Given the description of an element on the screen output the (x, y) to click on. 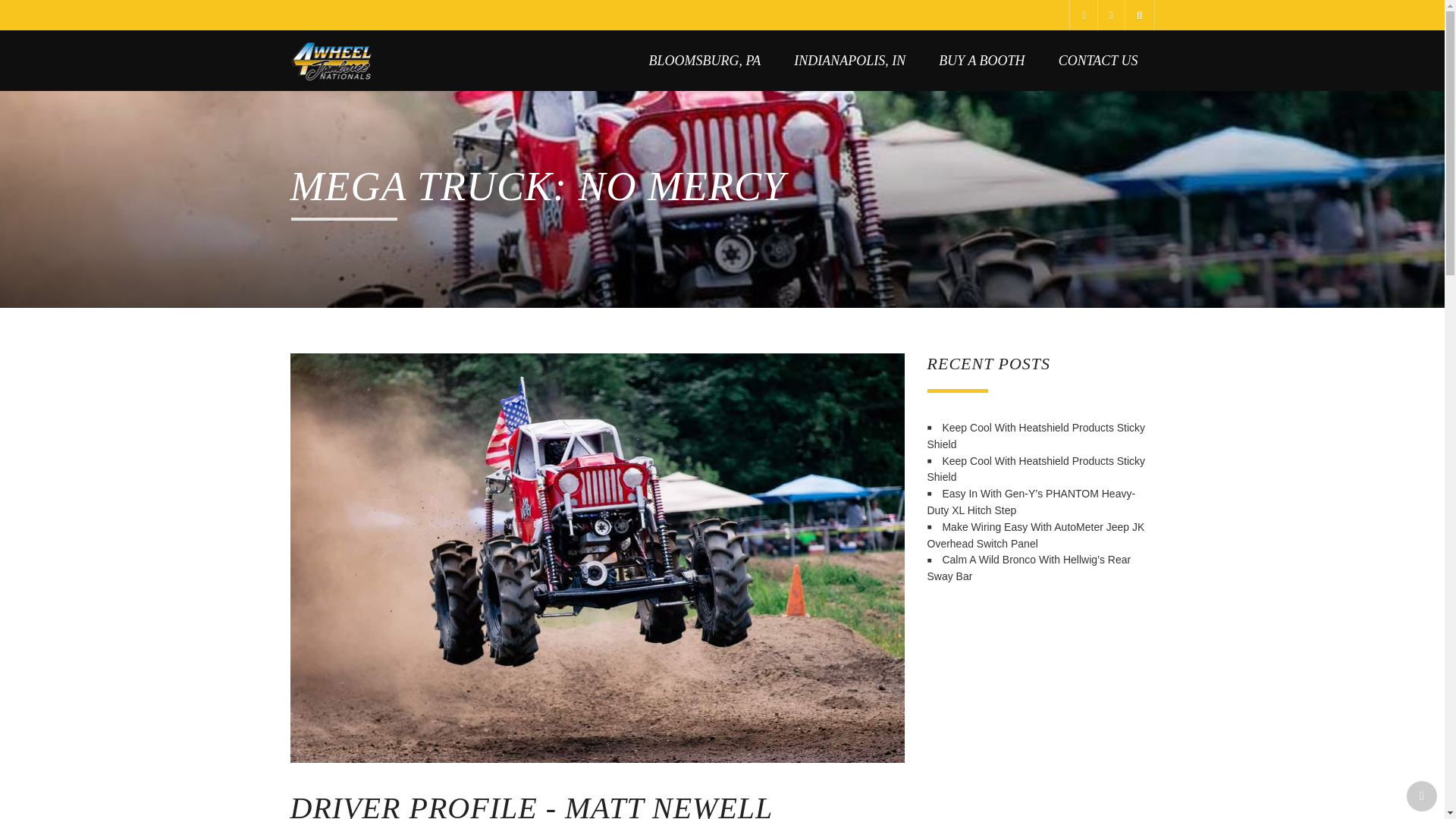
Instagram (1110, 15)
Keep Cool With Heatshield Products Sticky Shield (1035, 435)
Facebook (1082, 15)
CONTACT US (1098, 60)
Keep Cool With Heatshield Products Sticky Shield (1035, 468)
INDIANAPOLIS, IN (849, 60)
BLOOMSBURG, PA (704, 60)
BUY A BOOTH (981, 60)
Home (330, 60)
